Given the description of an element on the screen output the (x, y) to click on. 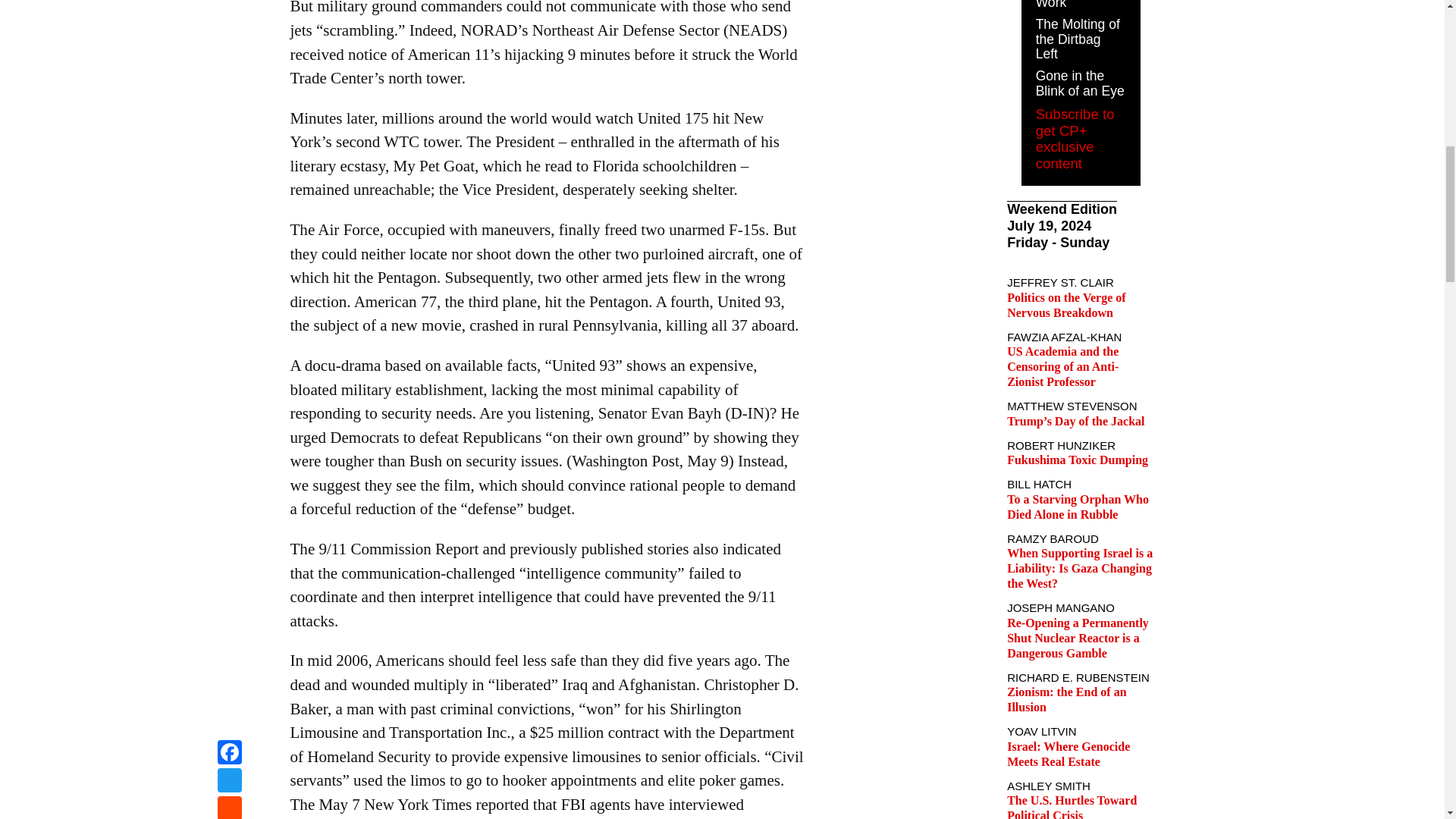
Email (229, 18)
Gone in the Blink of an Eye (1079, 82)
Reddit (229, 2)
Email (229, 18)
You Are Not Alone if You Are Out of Work (1070, 4)
Reddit (229, 2)
The Molting of the Dirtbag Left (1077, 39)
